Given the description of an element on the screen output the (x, y) to click on. 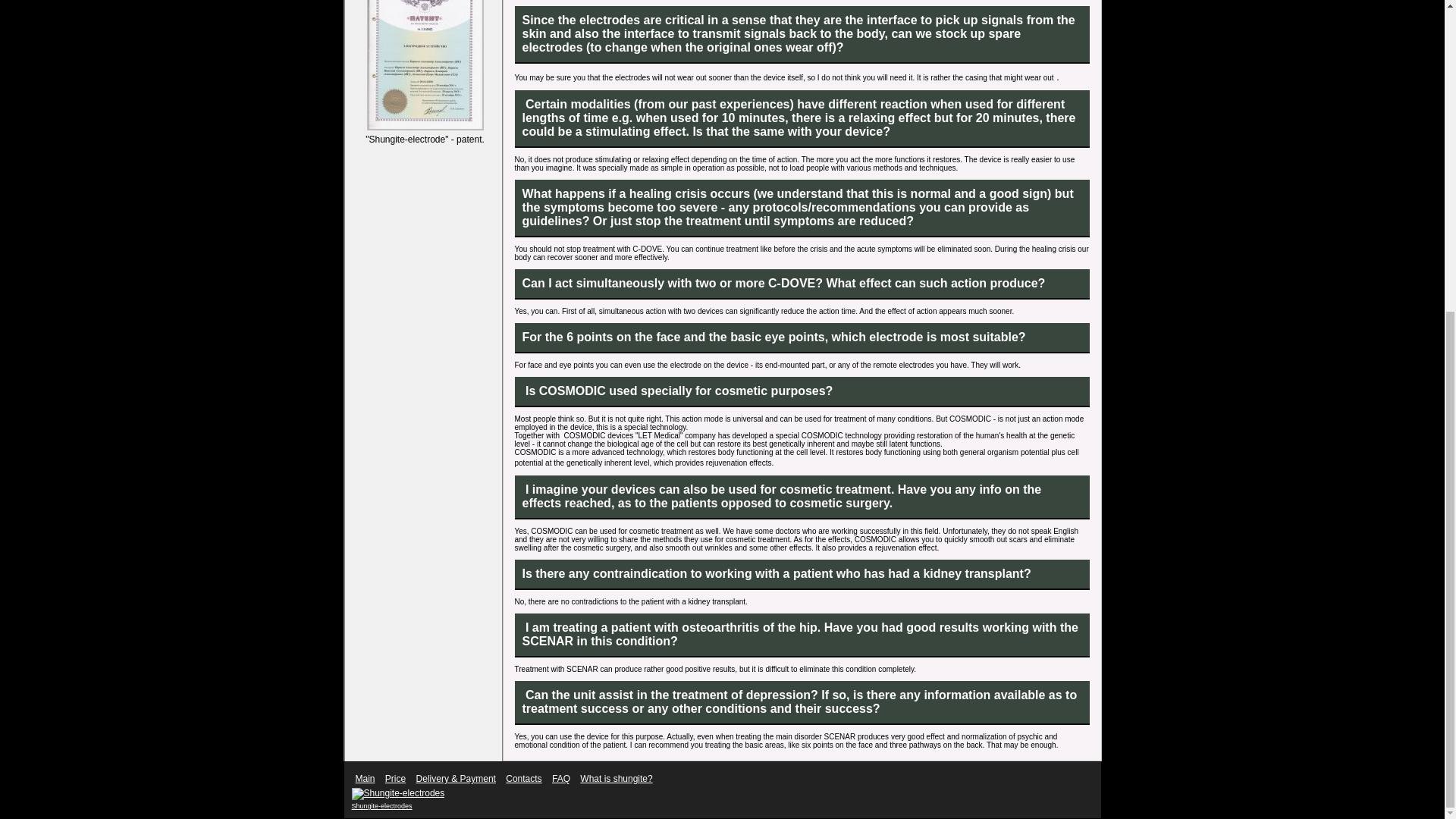
Shungite-electrodes (382, 805)
Shungite-electrodes (398, 792)
